Given the description of an element on the screen output the (x, y) to click on. 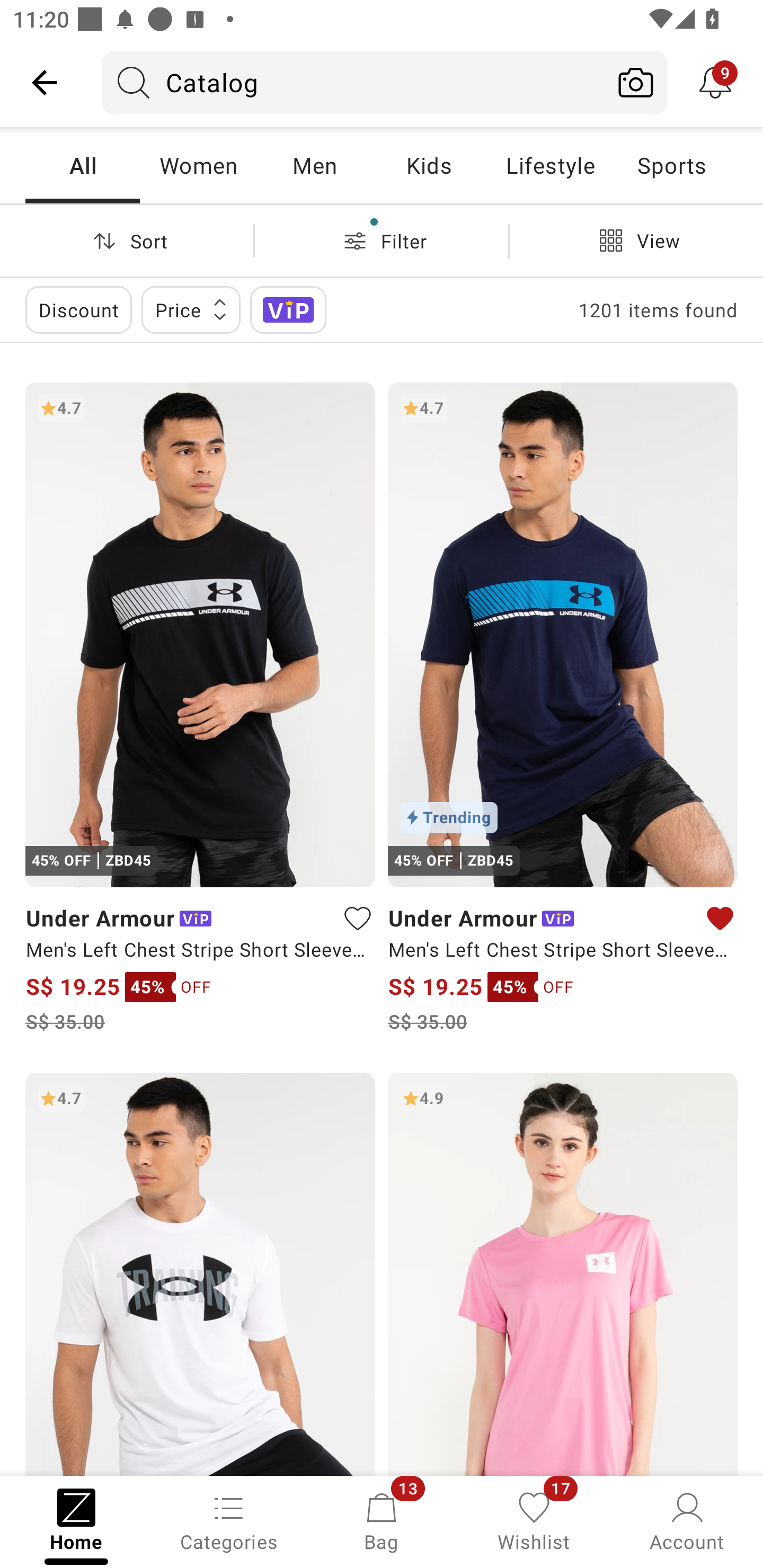
Navigate up (44, 82)
Catalog (352, 82)
Women (198, 165)
Men (314, 165)
Kids (428, 165)
Lifestyle (550, 165)
Sports (671, 165)
Sort (126, 240)
Filter (381, 240)
View (636, 240)
Discount (78, 309)
Price (190, 309)
4.7 (200, 1272)
4.9 (562, 1272)
Categories (228, 1519)
Bag, 13 new notifications Bag (381, 1519)
Wishlist, 17 new notifications Wishlist (533, 1519)
Account (686, 1519)
